Given the description of an element on the screen output the (x, y) to click on. 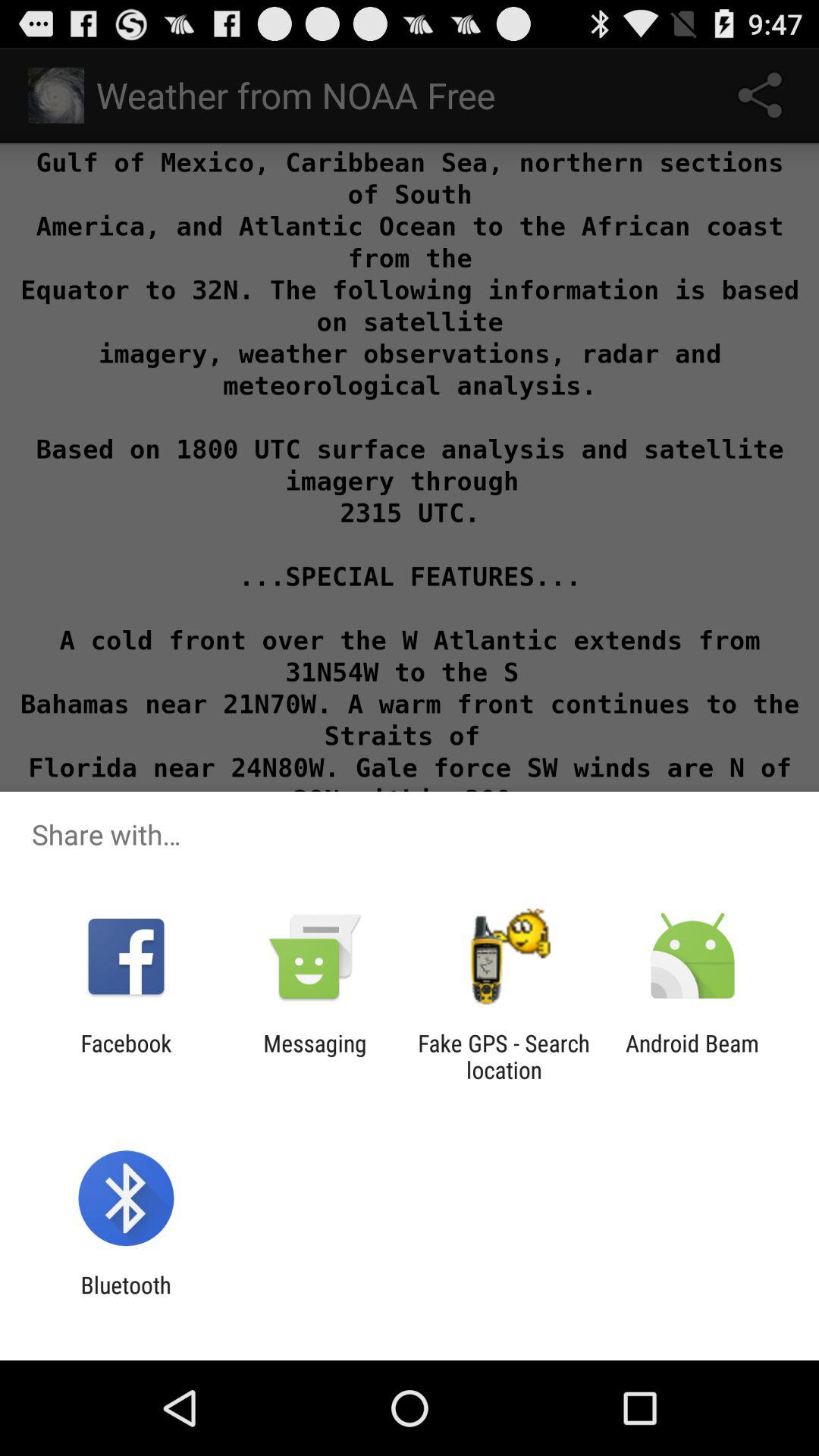
jump until facebook item (125, 1056)
